Given the description of an element on the screen output the (x, y) to click on. 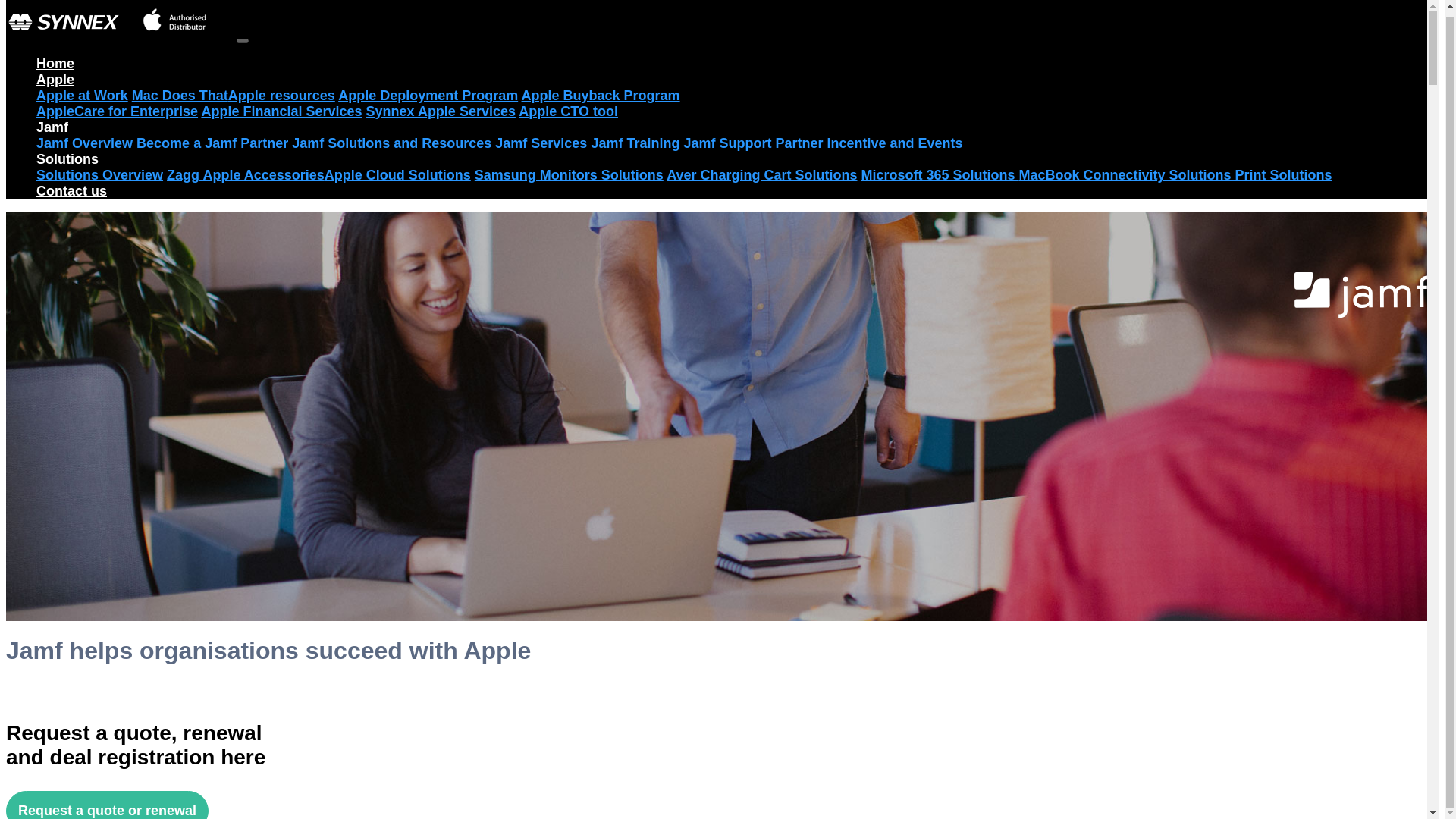
MacBook Connectivity Solutions (1126, 174)
Apple CTO tool (567, 111)
AppleCare for Enterprise (117, 111)
Apple Financial Services (280, 111)
Print Solutions (1283, 174)
Jamf (52, 127)
Solutions (67, 159)
Apple (55, 79)
Samsung Monitors Solutions (568, 174)
Solutions Overview (99, 174)
